Given the description of an element on the screen output the (x, y) to click on. 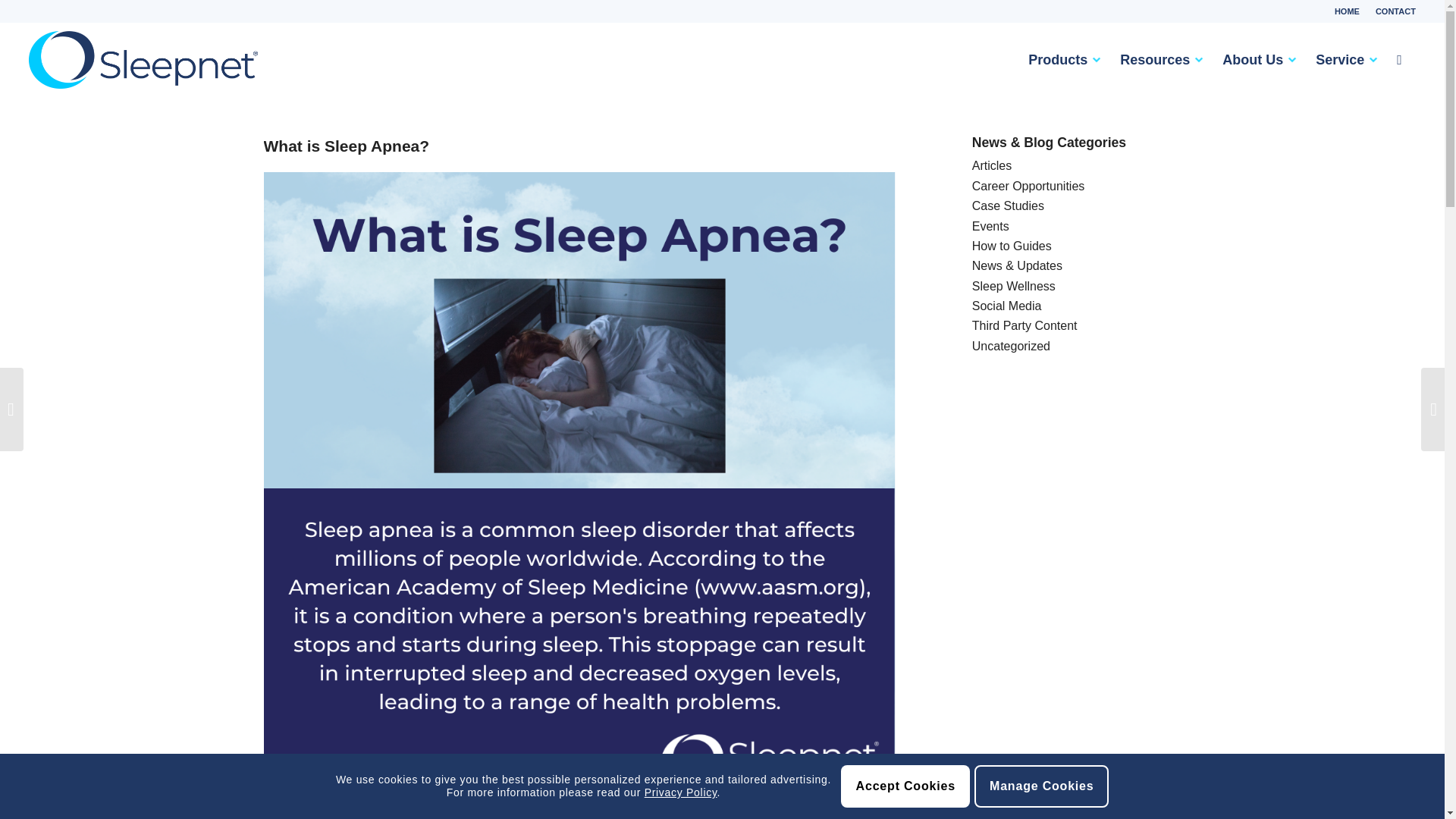
HOME (1347, 11)
Service (1337, 59)
Resources (1152, 59)
About Us (1250, 59)
CONTACT (1395, 11)
Products (1054, 59)
Sleepnet (143, 59)
